Given the description of an element on the screen output the (x, y) to click on. 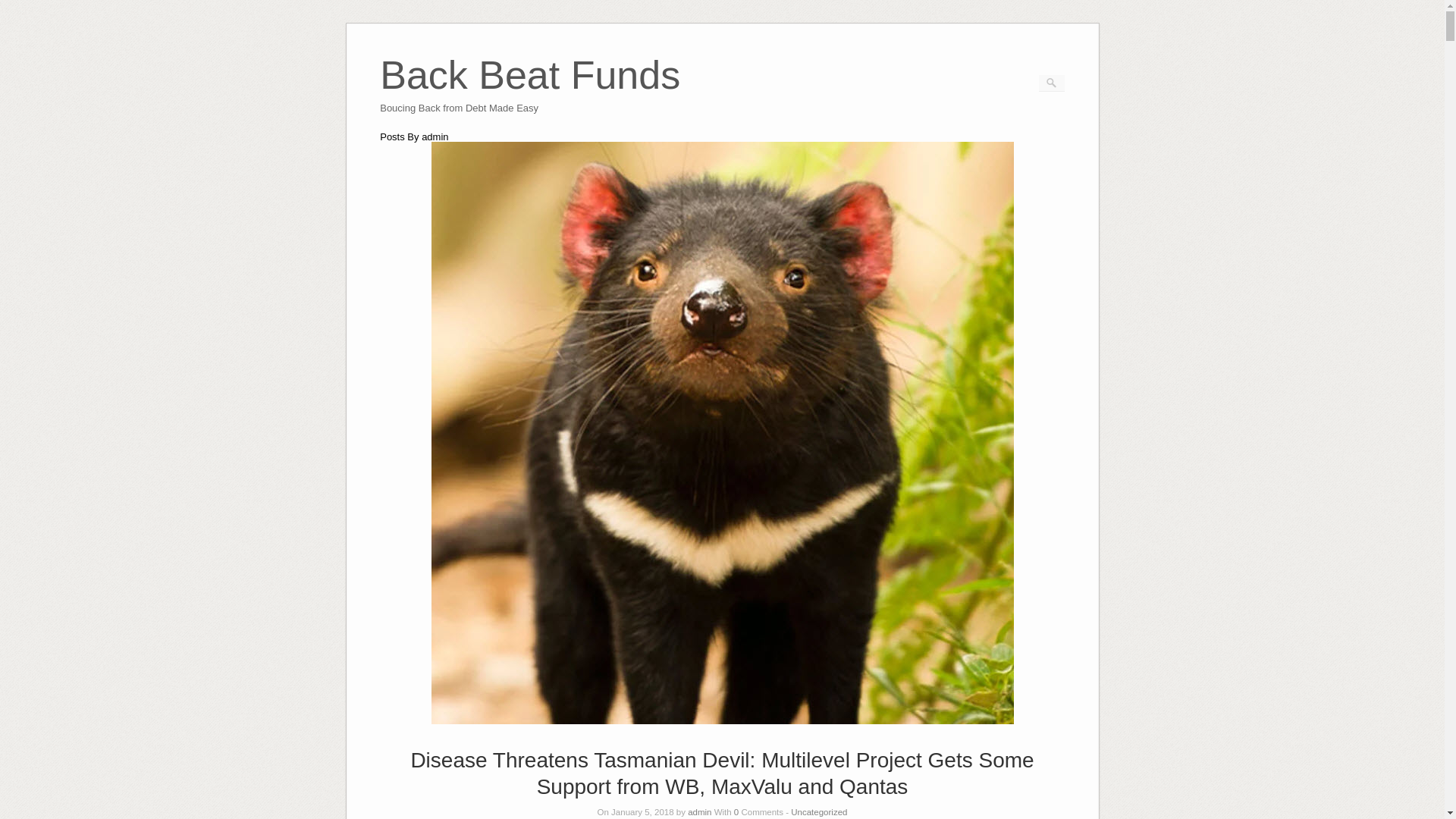
Search (529, 96)
Boucing Back from Debt Made Easy (21, 7)
Uncategorized (529, 96)
admin (818, 811)
